Given the description of an element on the screen output the (x, y) to click on. 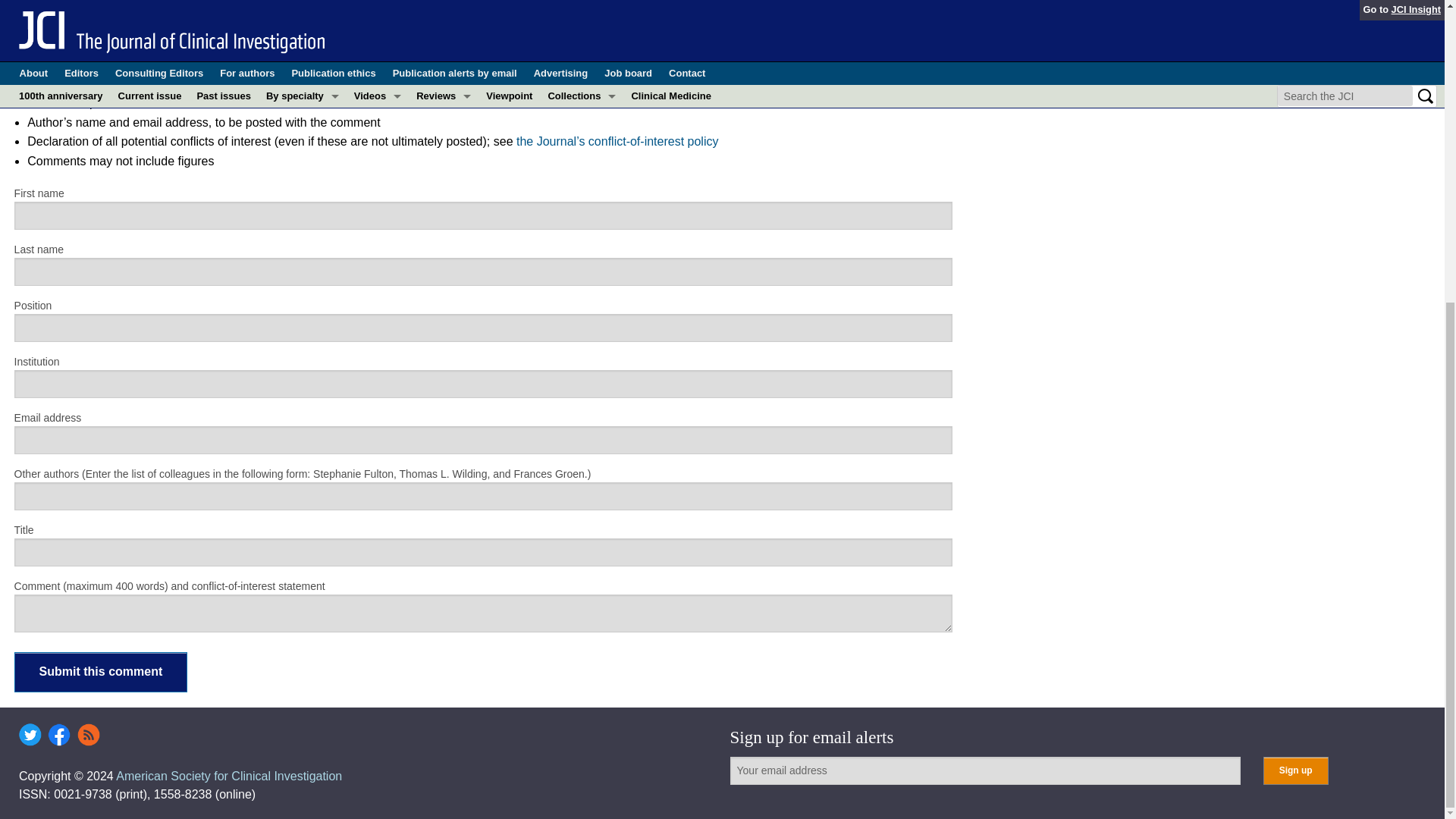
RSS (88, 734)
Submit this comment (100, 671)
Twitter (30, 734)
Facebook (58, 734)
Sign up (1295, 770)
